Given the description of an element on the screen output the (x, y) to click on. 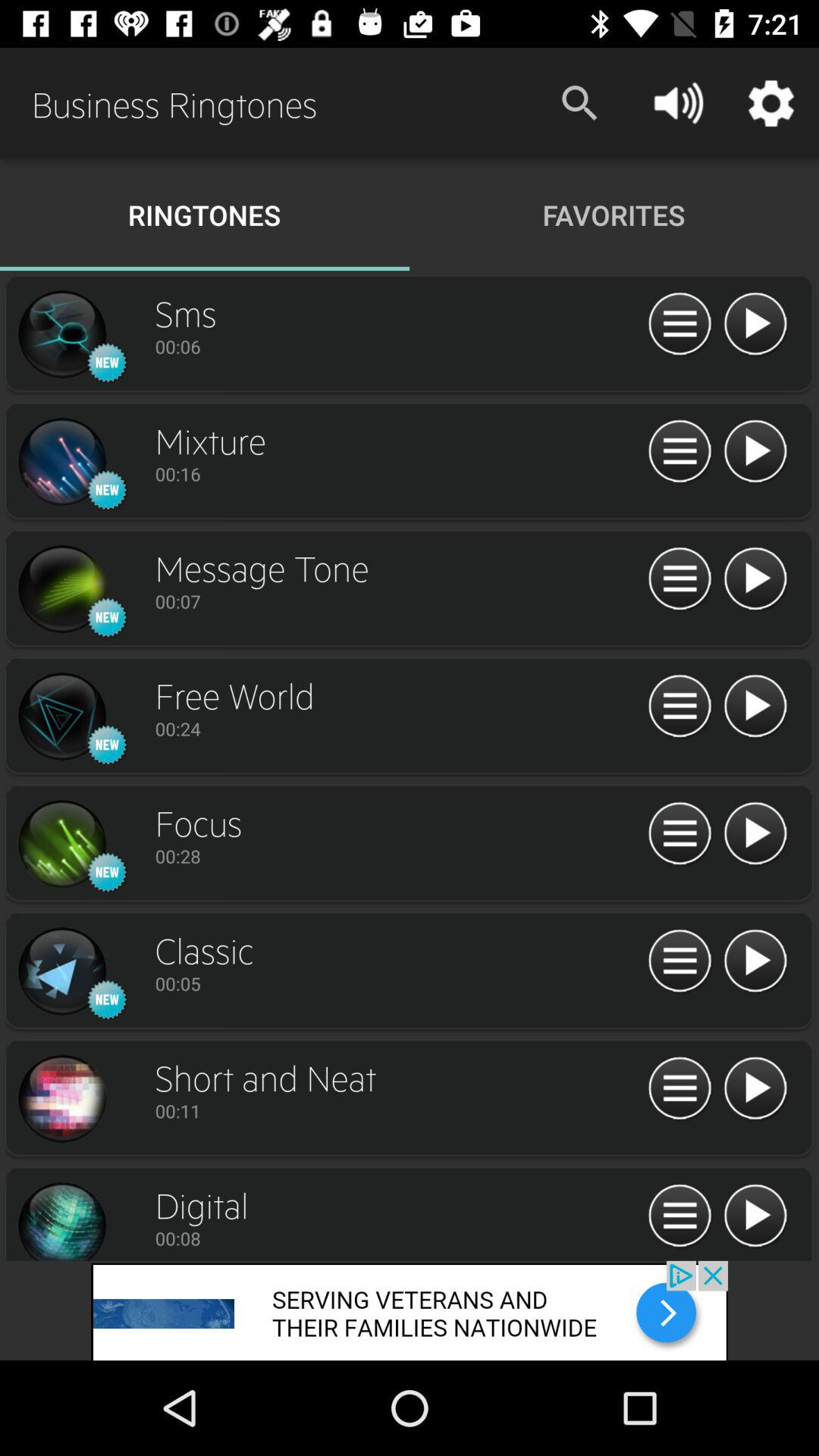
click pause button (679, 706)
